Given the description of an element on the screen output the (x, y) to click on. 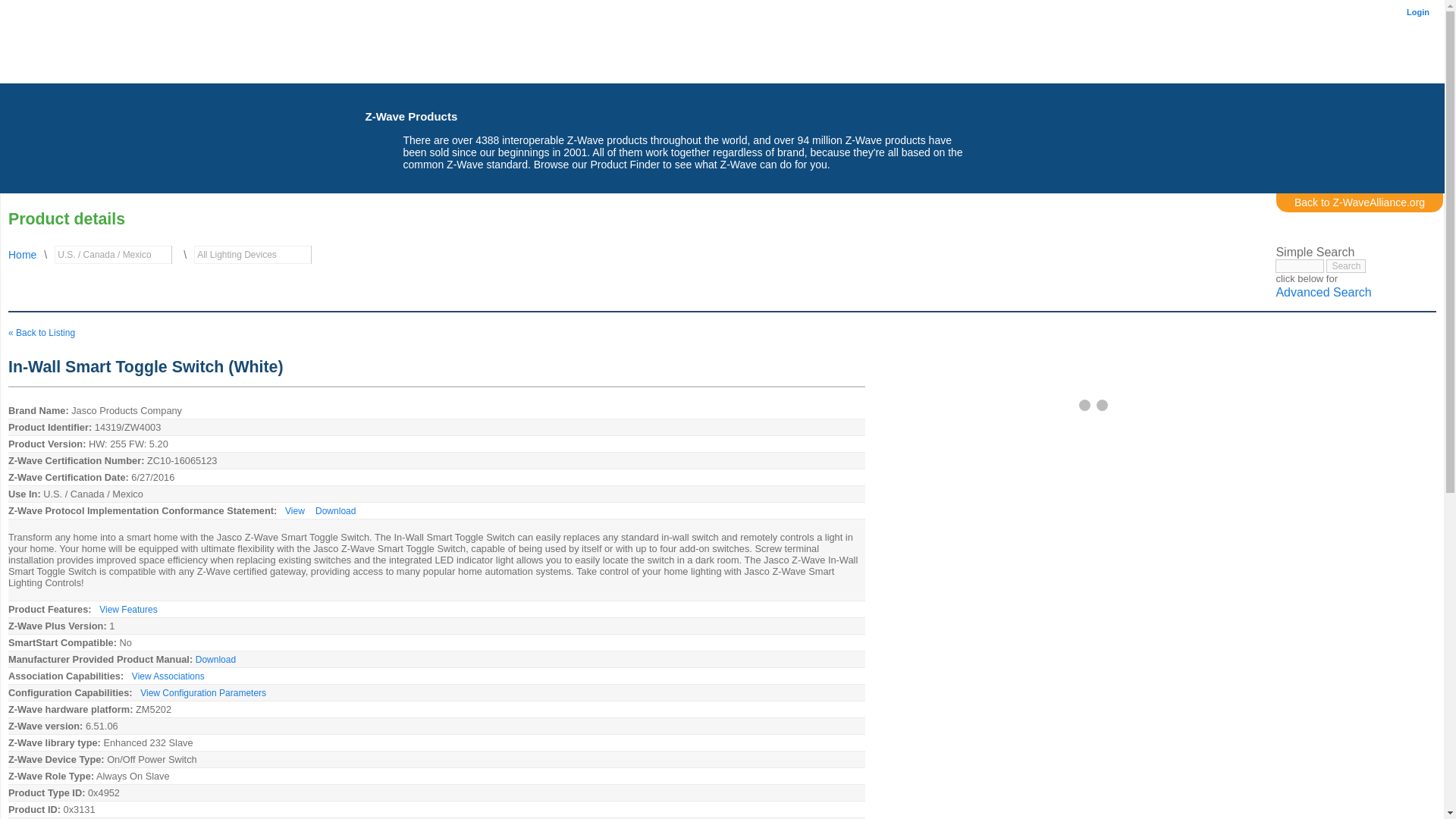
Search (1345, 265)
Home (22, 254)
Download (215, 659)
 Home (437, 43)
Login (1413, 11)
View (294, 511)
Download (335, 511)
View Associations (168, 675)
Back to Z-WaveAlliance.org (1359, 202)
Advanced Search (1323, 292)
View Configuration Parameters (202, 692)
View Features (128, 609)
Search (1345, 265)
